Given the description of an element on the screen output the (x, y) to click on. 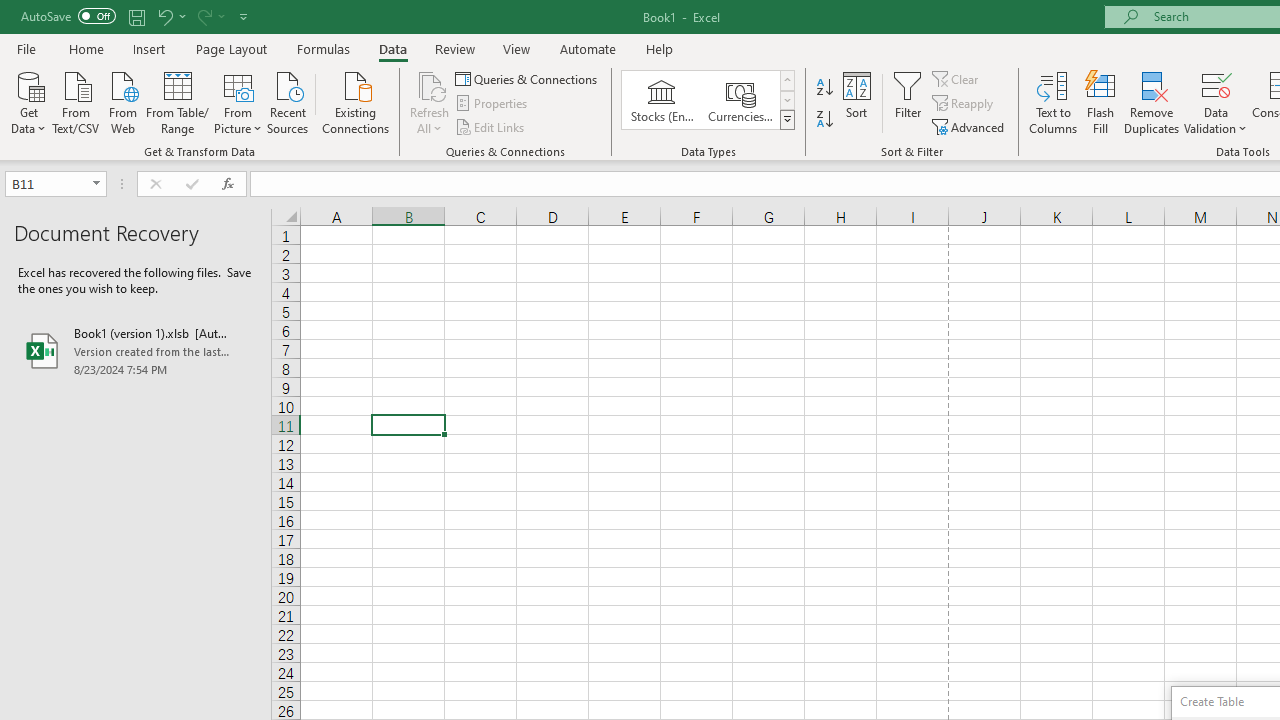
Review (454, 48)
Open (96, 183)
More Options (1215, 121)
Edit Links (491, 126)
Row up (786, 79)
Book1 (version 1).xlsb  [AutoRecovered] (136, 350)
From Picture (238, 101)
Data (392, 48)
Advanced... (970, 126)
Sort... (856, 102)
Text to Columns... (1053, 102)
